Given the description of an element on the screen output the (x, y) to click on. 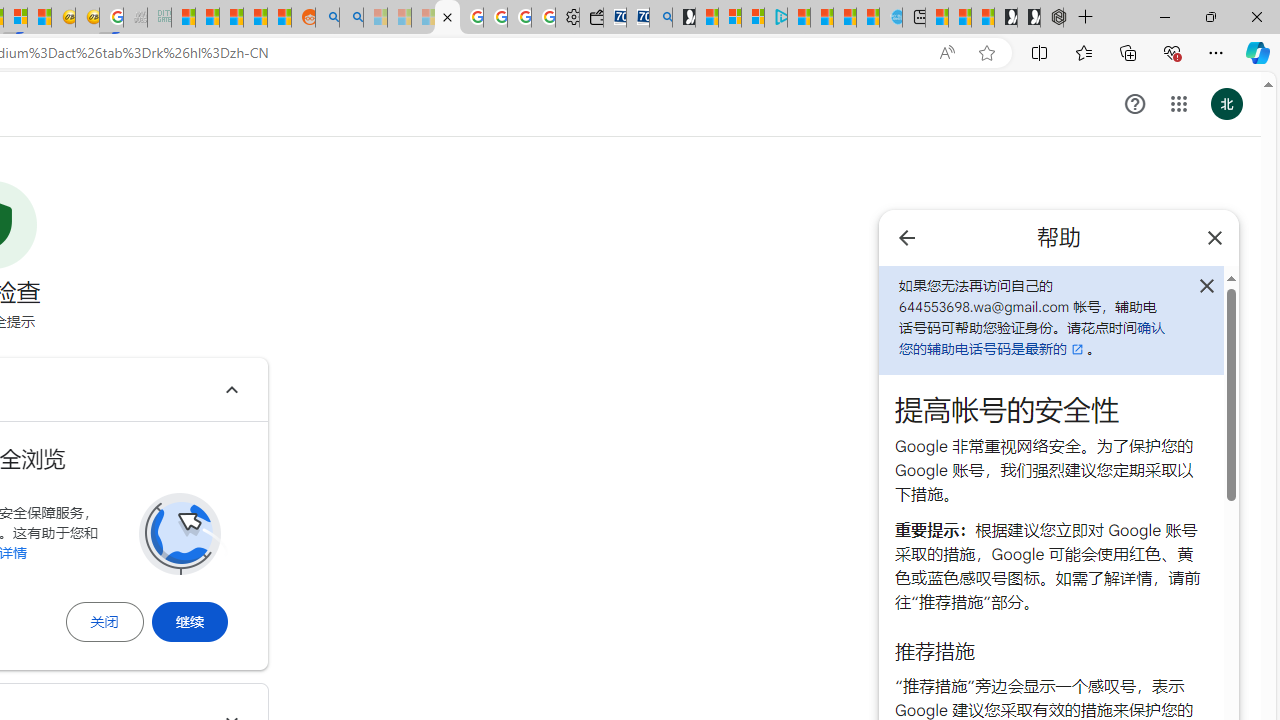
Class: gb_E (1178, 103)
MSNBC - MSN (182, 17)
Nordace - Nordace Siena Is Not An Ordinary Backpack (1051, 17)
Wallet (590, 17)
Microsoft Start Gaming (684, 17)
